Given the description of an element on the screen output the (x, y) to click on. 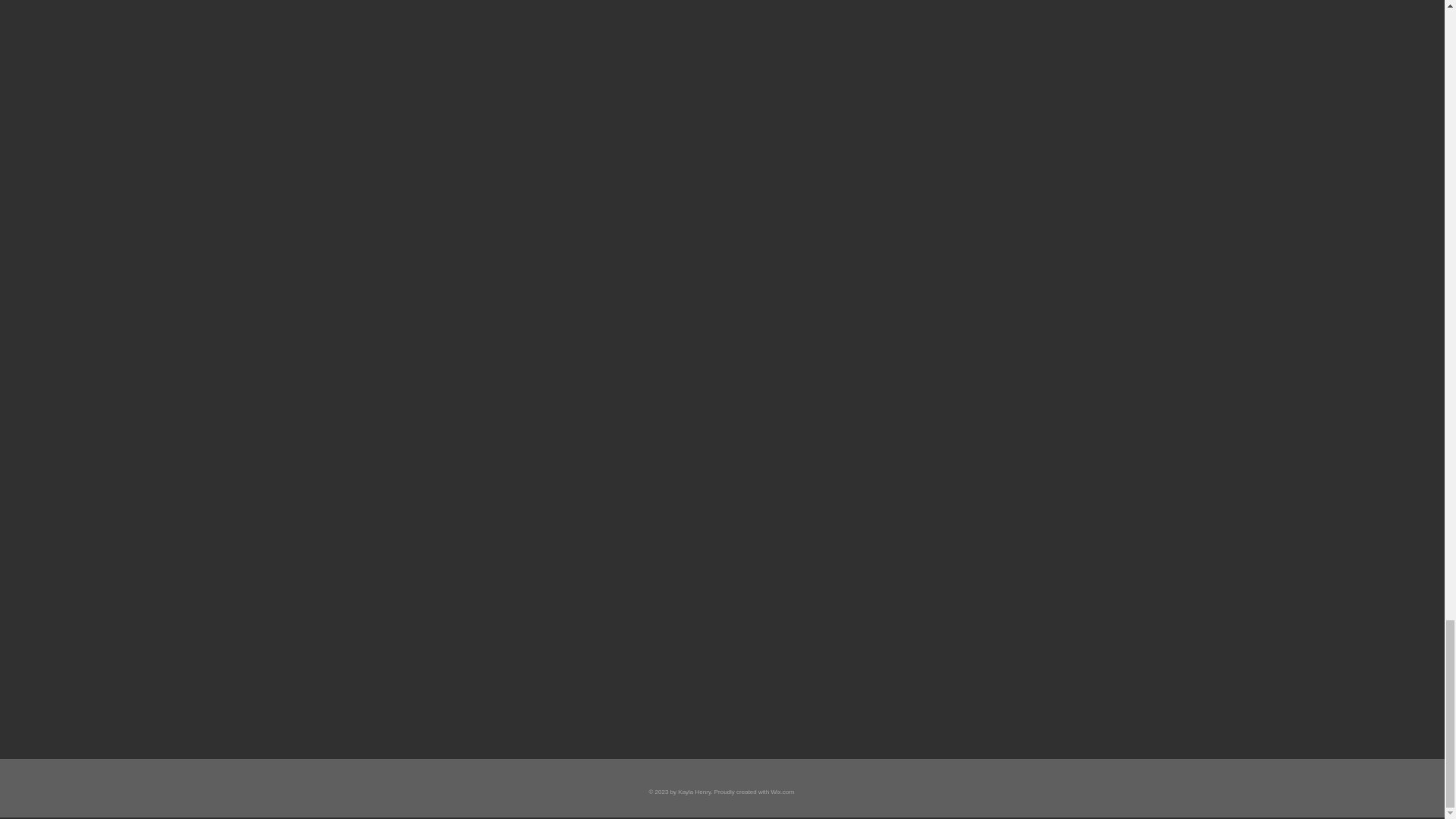
Wix.com (781, 791)
